Given the description of an element on the screen output the (x, y) to click on. 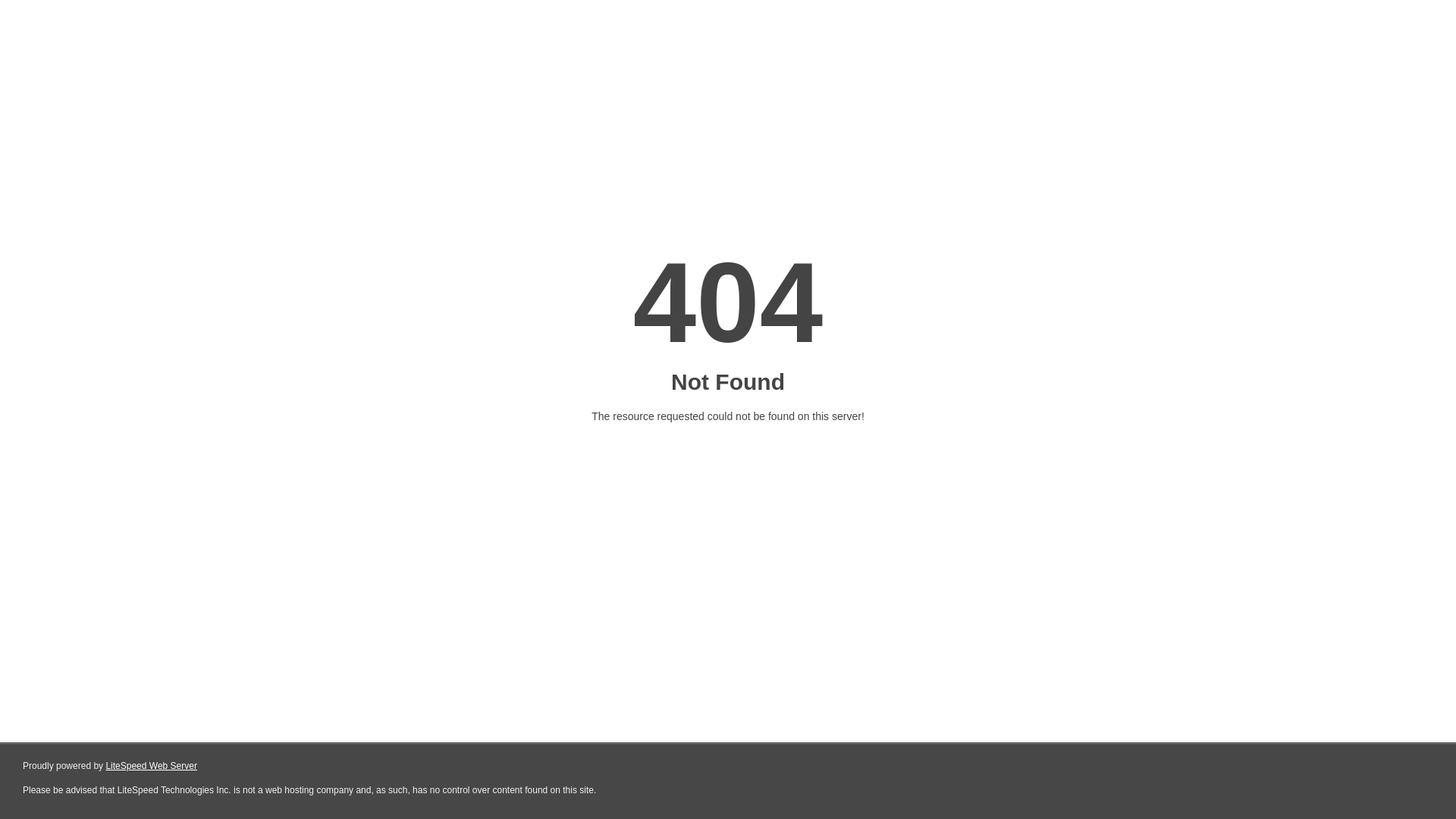
LiteSpeed Web Server Element type: text (151, 765)
